Given the description of an element on the screen output the (x, y) to click on. 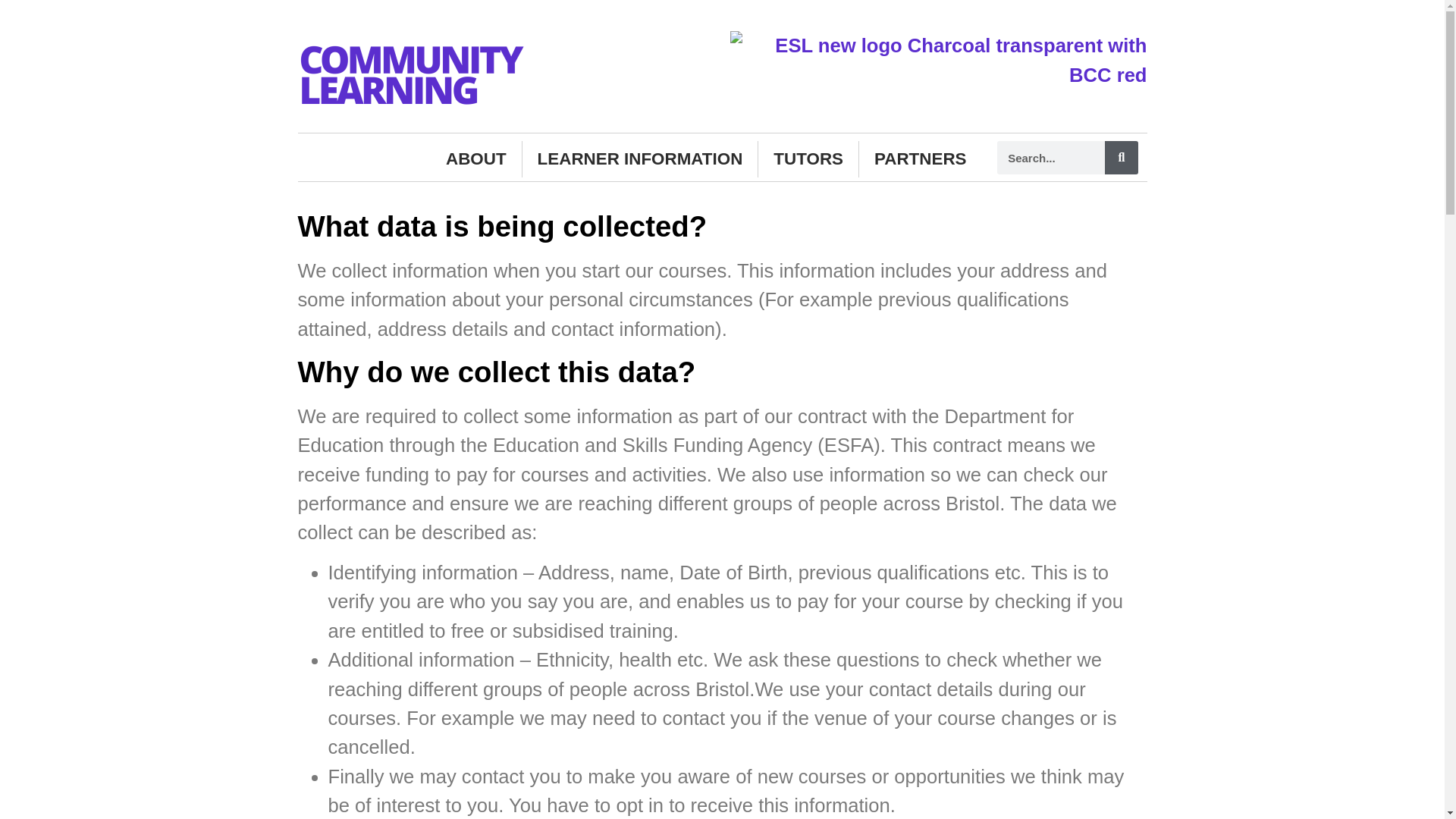
TUTORS (808, 158)
LEARNER INFORMATION (640, 158)
ESL new logo Charcoal transparent with BCC red (938, 60)
ABOUT (475, 158)
PARTNERS (920, 158)
